Given the description of an element on the screen output the (x, y) to click on. 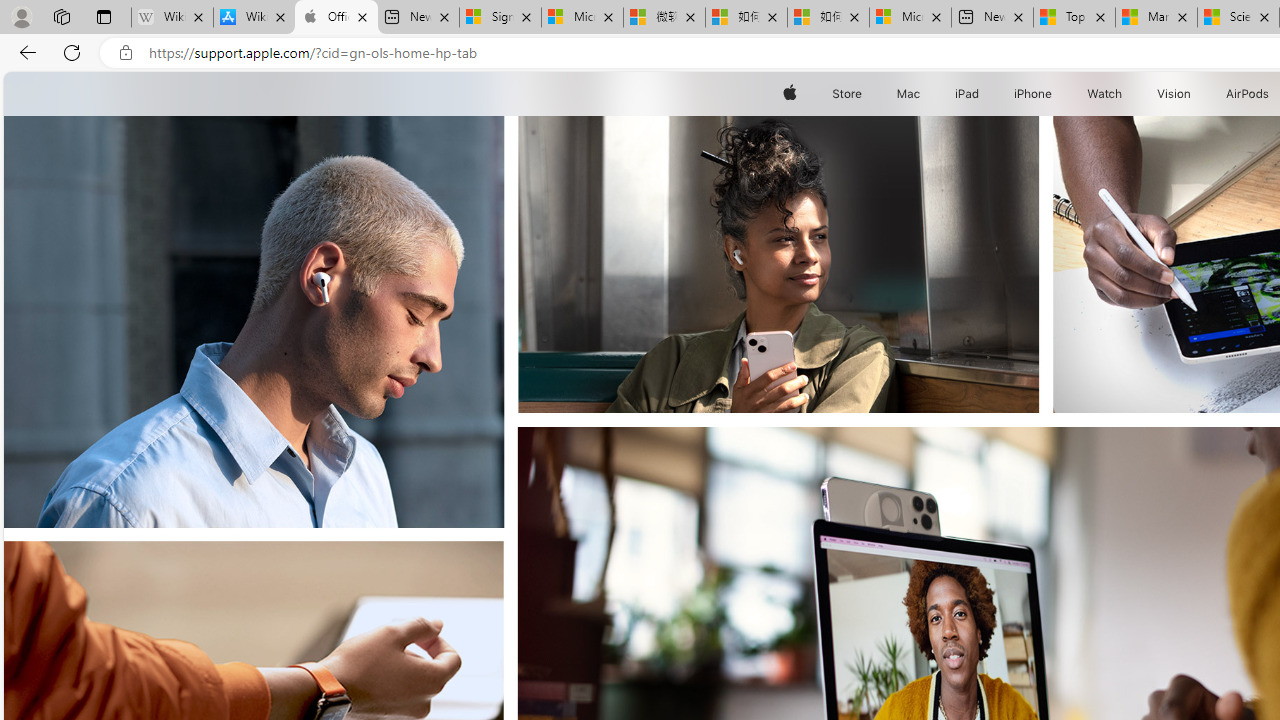
iPhone (1033, 93)
Vision (1174, 93)
AirPods (1247, 93)
Mac (908, 93)
Store (846, 93)
Official Apple Support (336, 17)
